Given the description of an element on the screen output the (x, y) to click on. 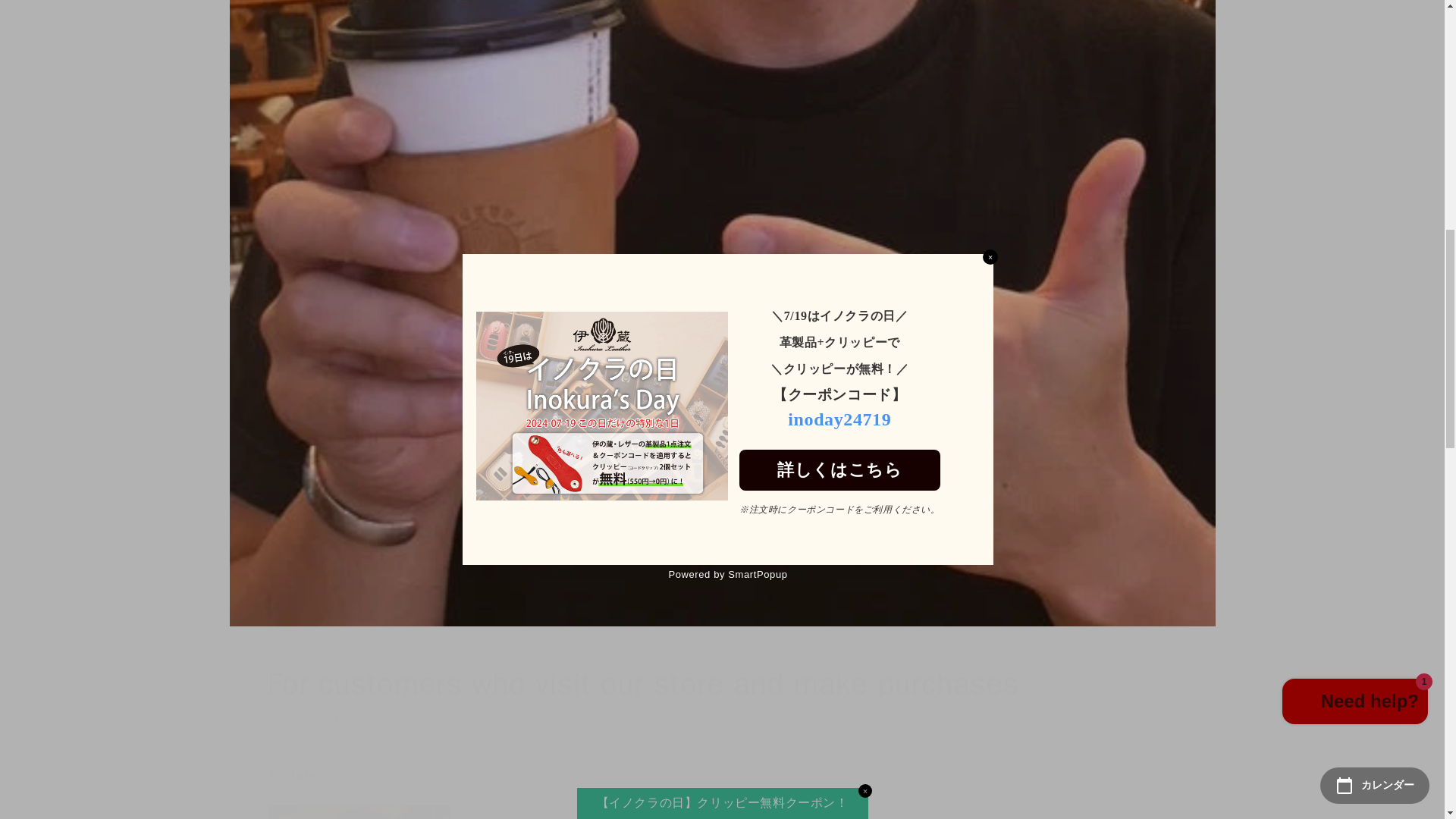
For customers who visit our store and make purchases (357, 811)
Share (721, 776)
